Given the description of an element on the screen output the (x, y) to click on. 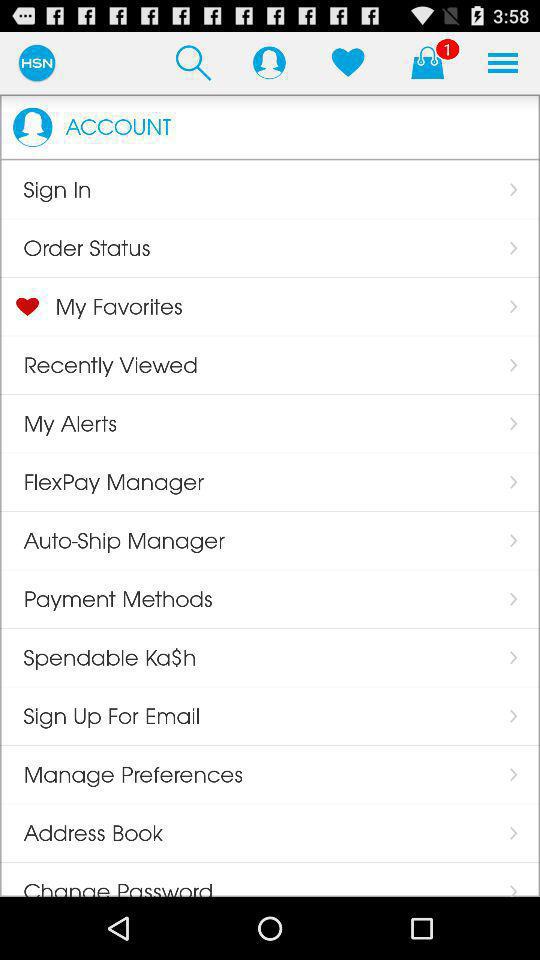
choose item above sign up for item (98, 657)
